Given the description of an element on the screen output the (x, y) to click on. 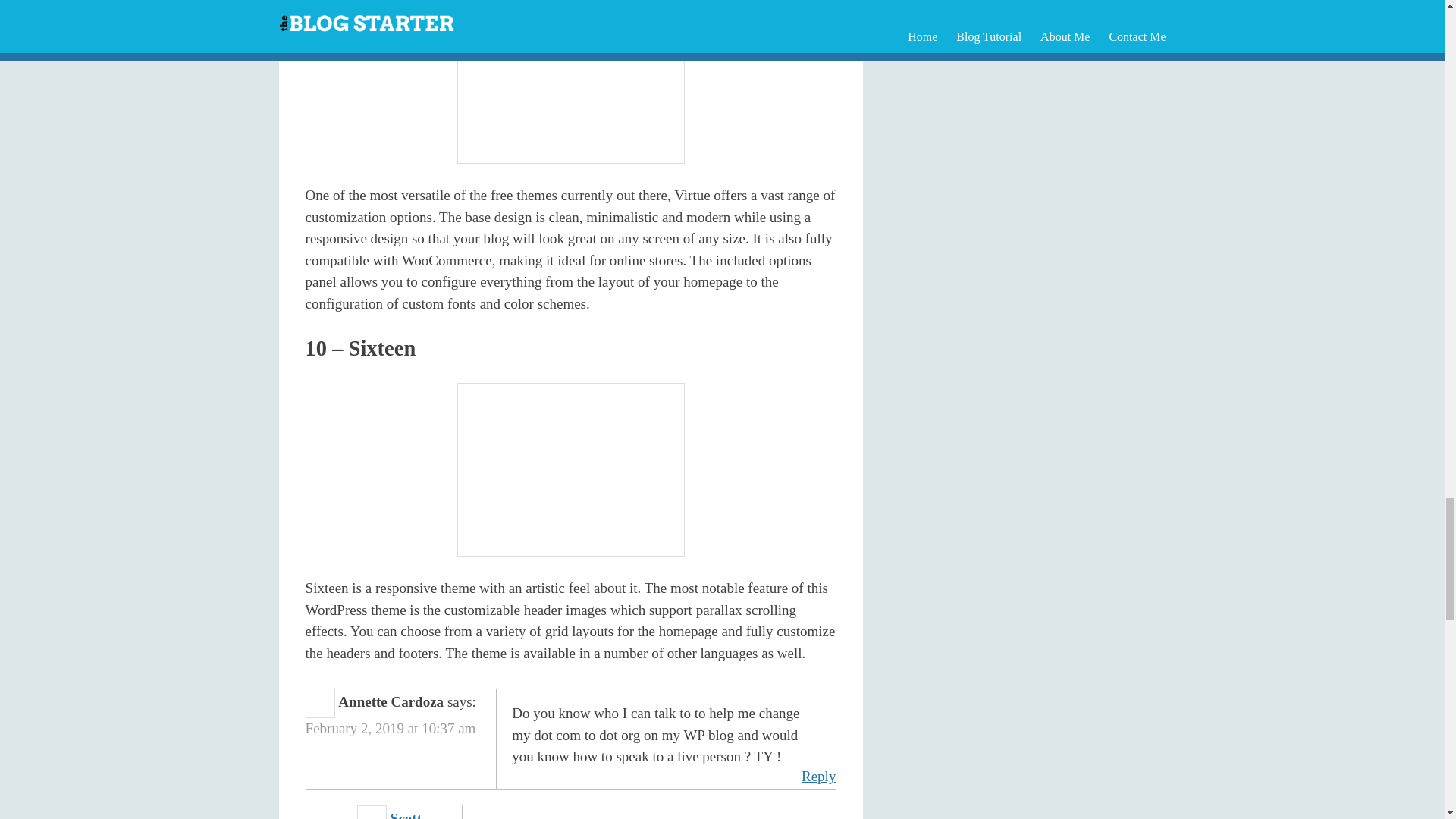
Reply (818, 776)
Scott Chow (389, 814)
February 2, 2019 at 10:37 am (390, 728)
